Given the description of an element on the screen output the (x, y) to click on. 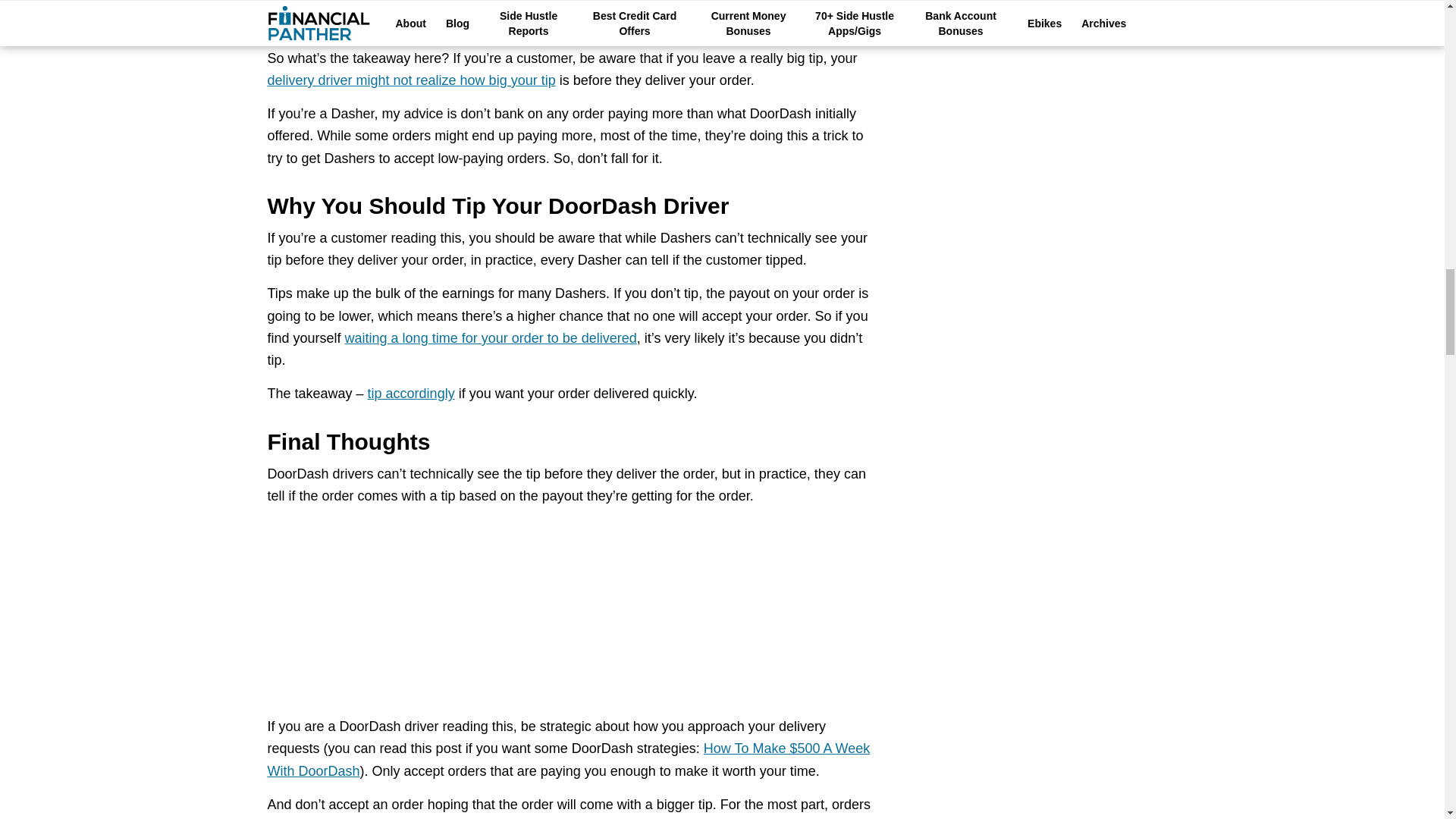
tip accordingly (411, 393)
waiting a long time for your order to be delivered (491, 337)
delivery driver might not realize how big your tip (410, 79)
